Given the description of an element on the screen output the (x, y) to click on. 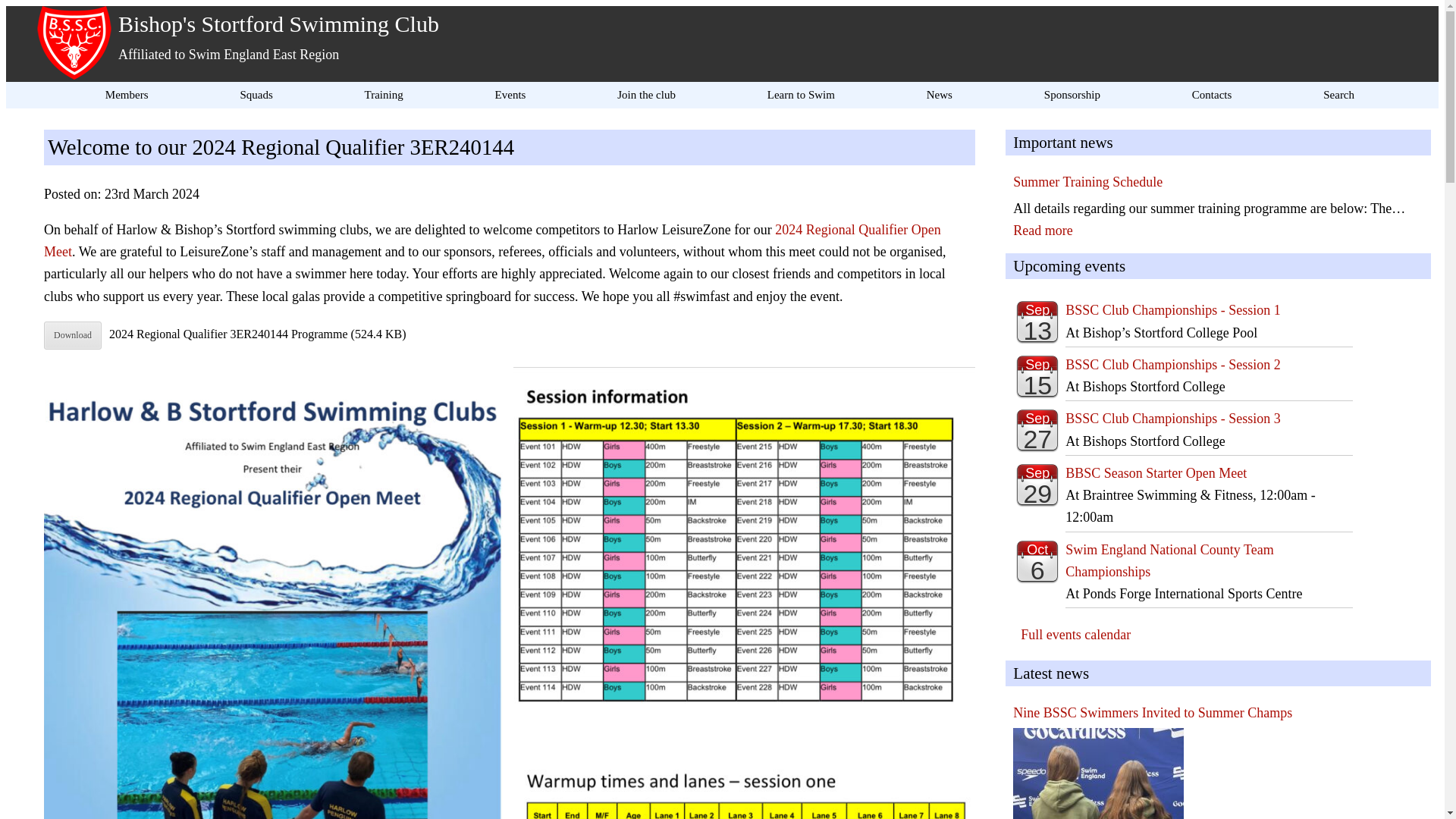
Squads (255, 94)
News (938, 94)
Members (126, 94)
Training (383, 94)
Events (510, 94)
Join the club (646, 94)
Learn to Swim (801, 94)
Nine BSSC Swimmers Invited to Summer Champs (1098, 773)
